Given the description of an element on the screen output the (x, y) to click on. 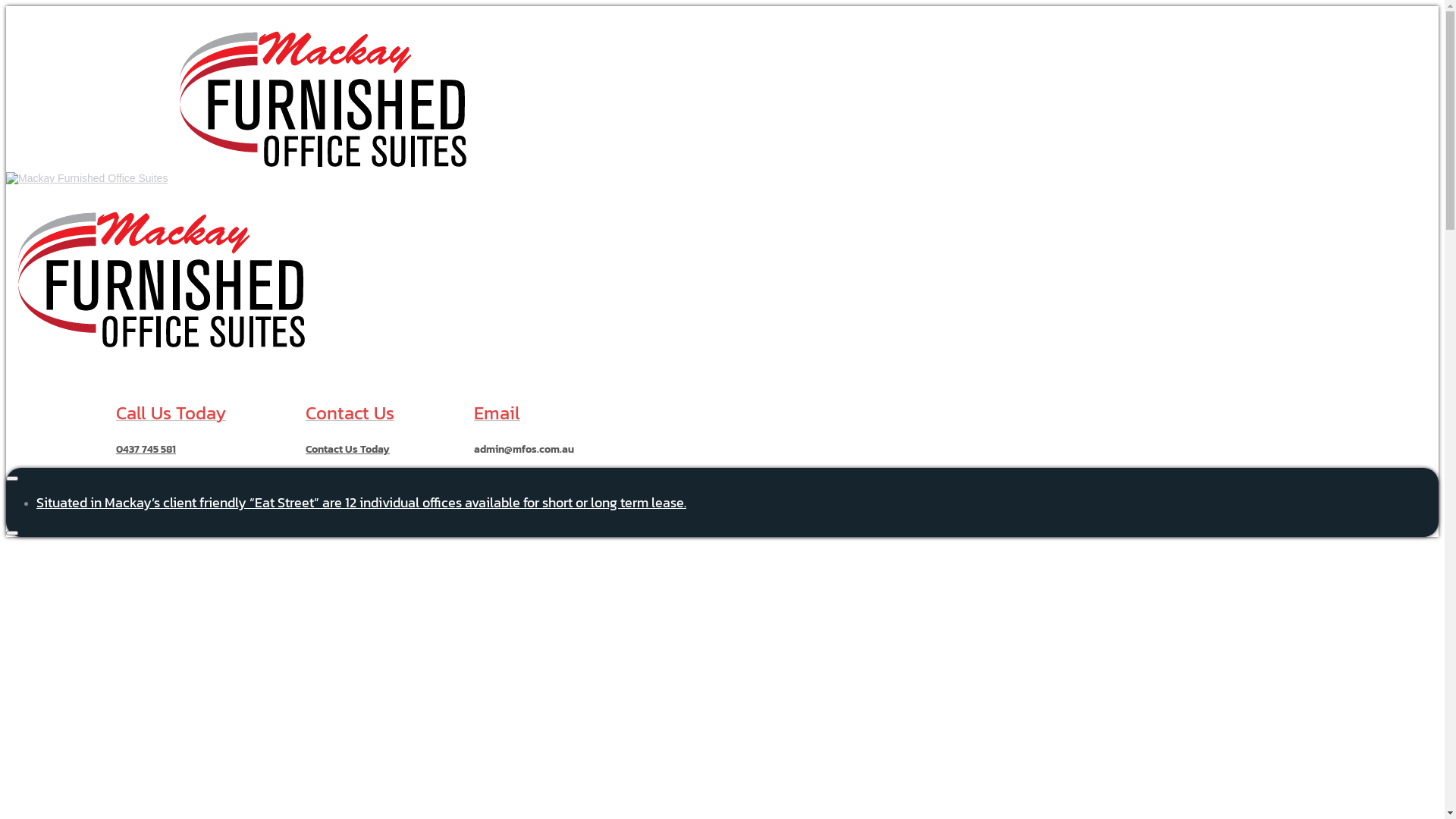
Email Element type: text (496, 415)
Contact Us Element type: text (349, 415)
Call Us Today Element type: text (170, 415)
0437 745 581 Element type: text (145, 449)
Contact Us Today Element type: text (347, 449)
